Given the description of an element on the screen output the (x, y) to click on. 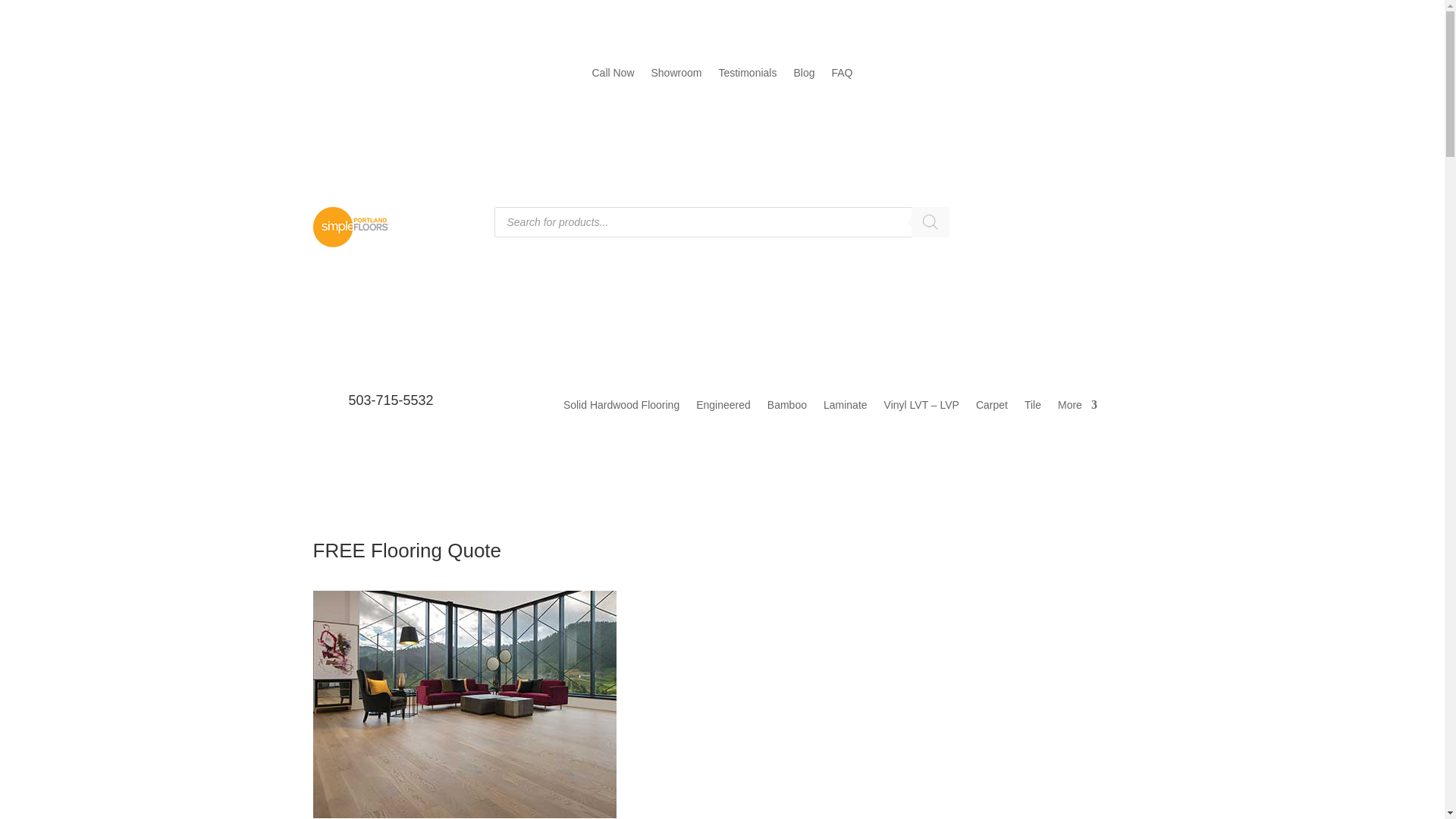
FAQ (841, 75)
Engineered (723, 407)
Blog (803, 75)
Flooring Catalog (1067, 239)
503-715-5532 (391, 400)
Tile (1033, 407)
Showroom (675, 75)
Solid Hardwood Flooring (621, 407)
More (1077, 407)
sfpdx-flooring-floating-button (464, 704)
